Given the description of an element on the screen output the (x, y) to click on. 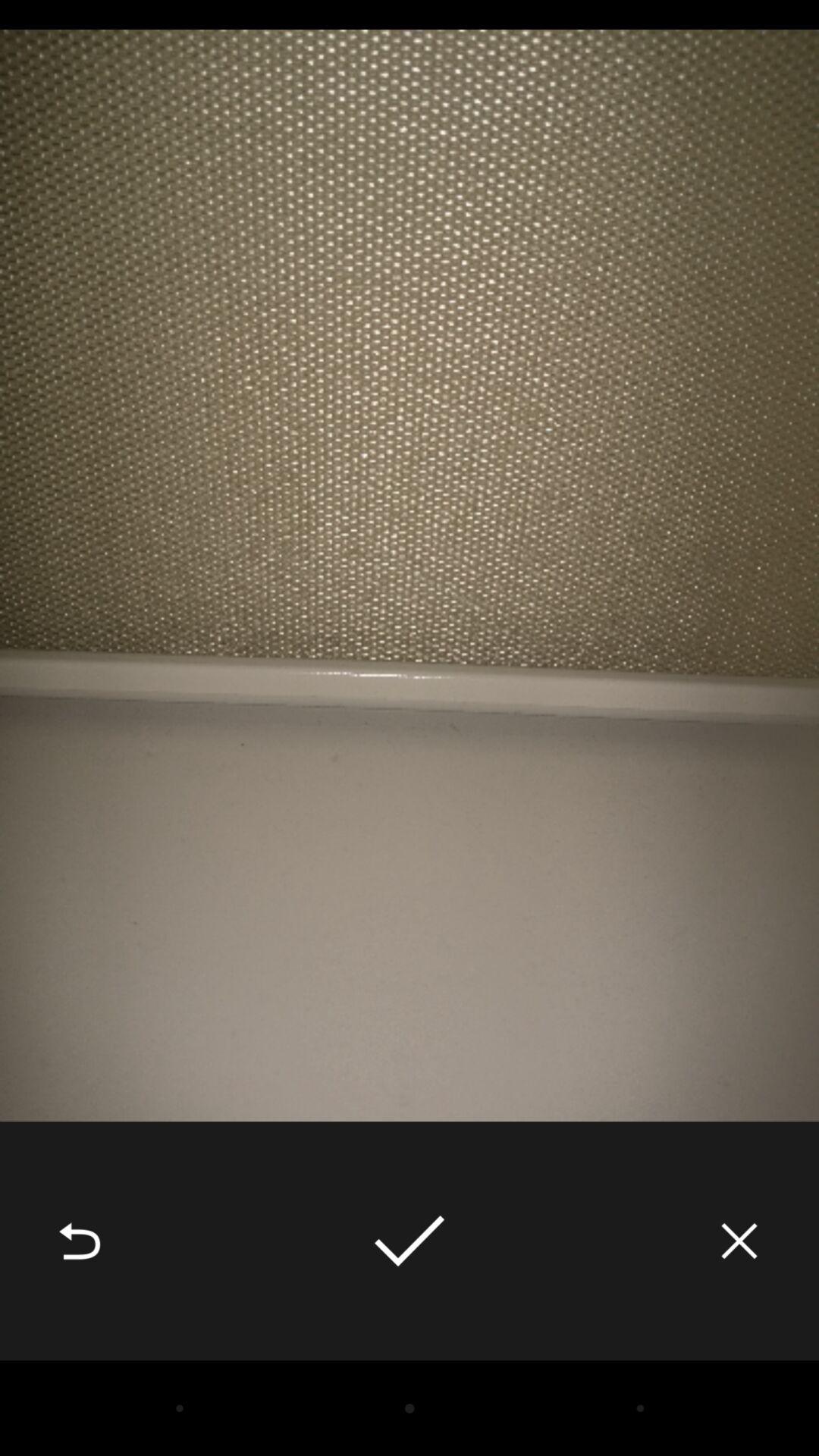
press item at the bottom left corner (79, 1240)
